Given the description of an element on the screen output the (x, y) to click on. 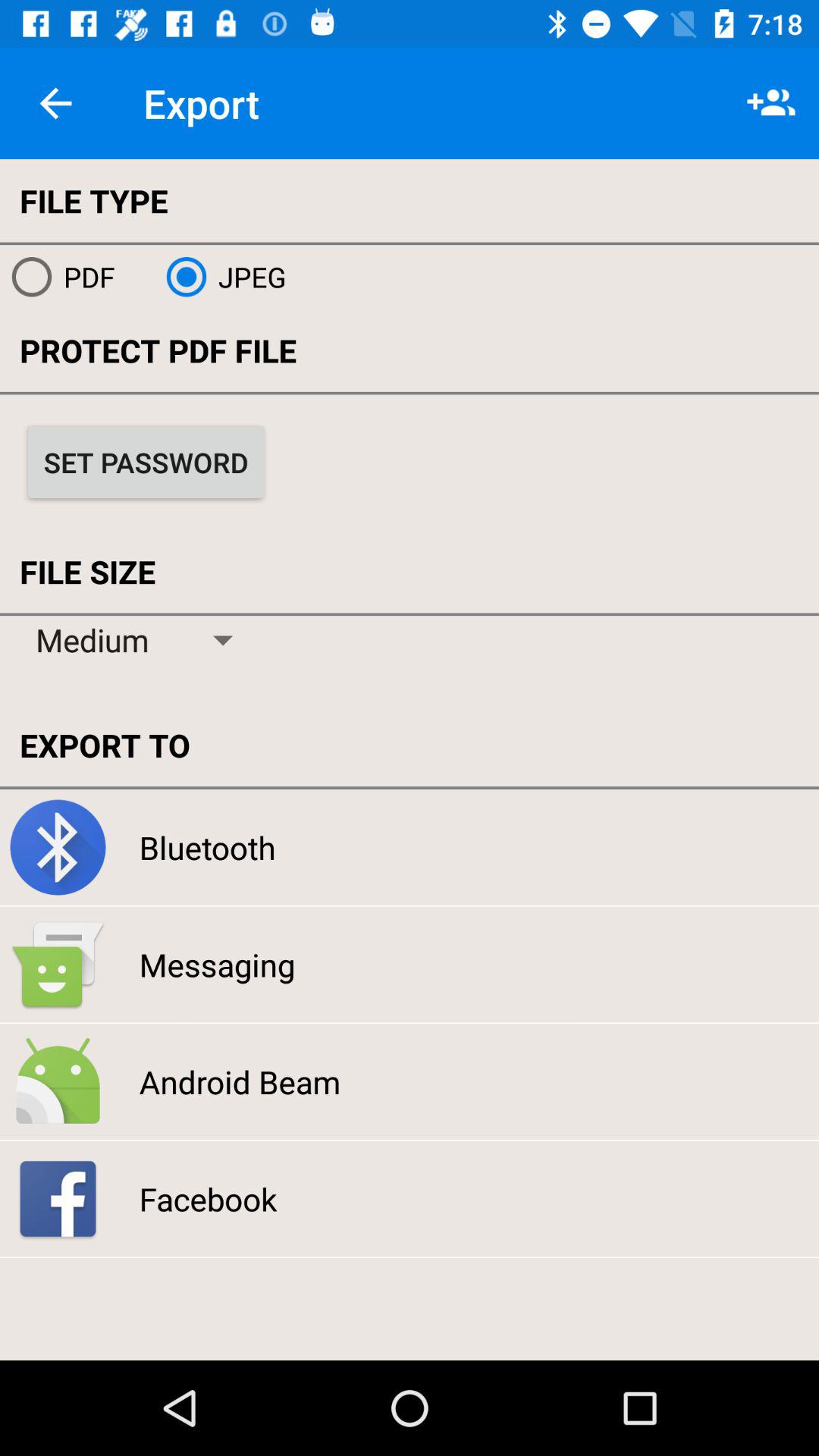
select the icon to the right of export item (771, 103)
